Given the description of an element on the screen output the (x, y) to click on. 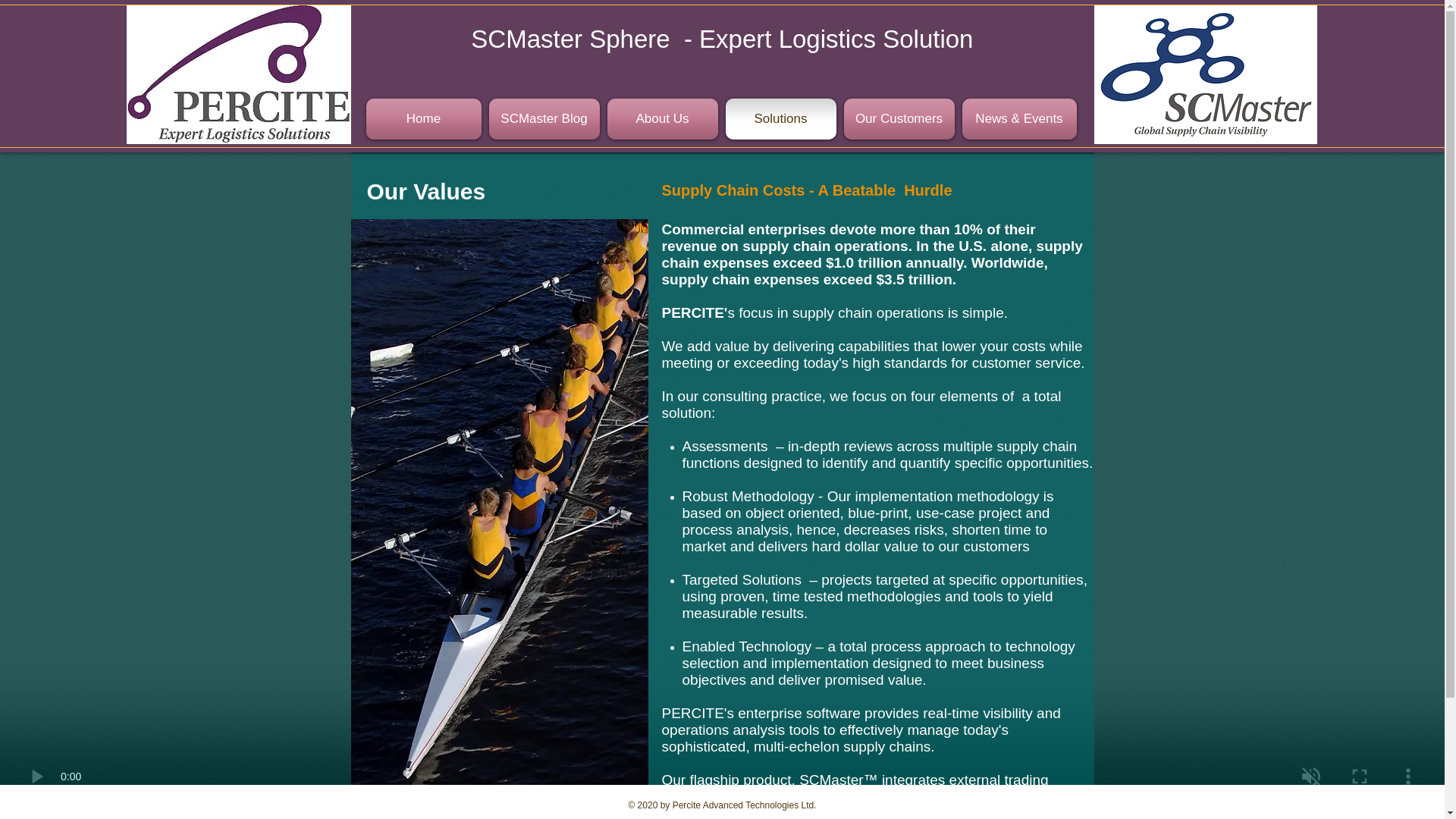
Solutions (781, 118)
Our Customers (899, 118)
Home (424, 118)
About Us (663, 118)
SCMaster Blog (544, 118)
